Given the description of an element on the screen output the (x, y) to click on. 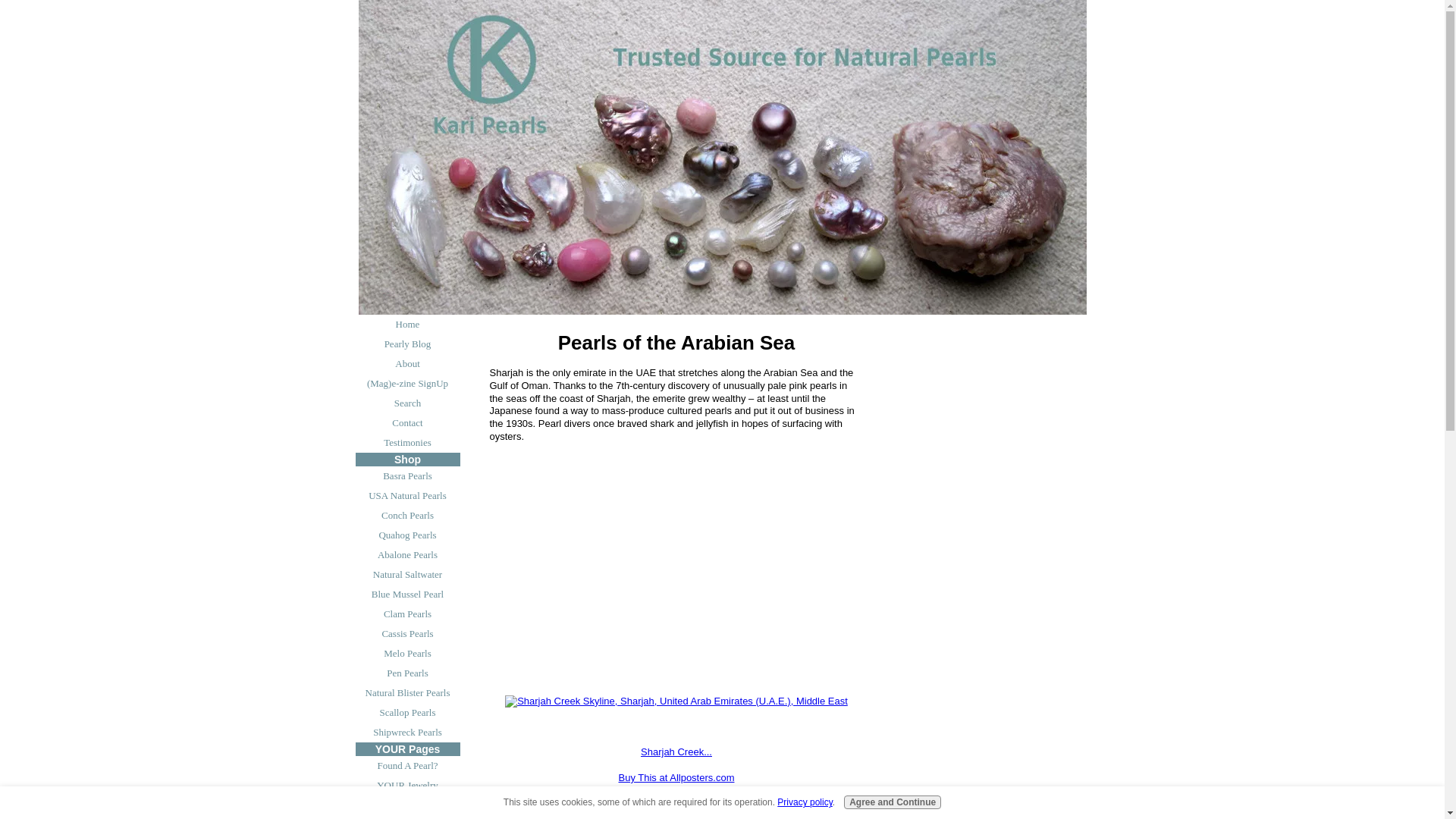
Testimonies (407, 442)
Melo Pearls (407, 653)
Found A Pearl? (407, 765)
Basra Pearls (407, 476)
YOUR Jewelry (407, 785)
Pen Pearls (407, 673)
Conch Pearls (407, 515)
Contact (407, 423)
Shipwreck Pearls (407, 732)
Scallop Pearls (407, 712)
